Given the description of an element on the screen output the (x, y) to click on. 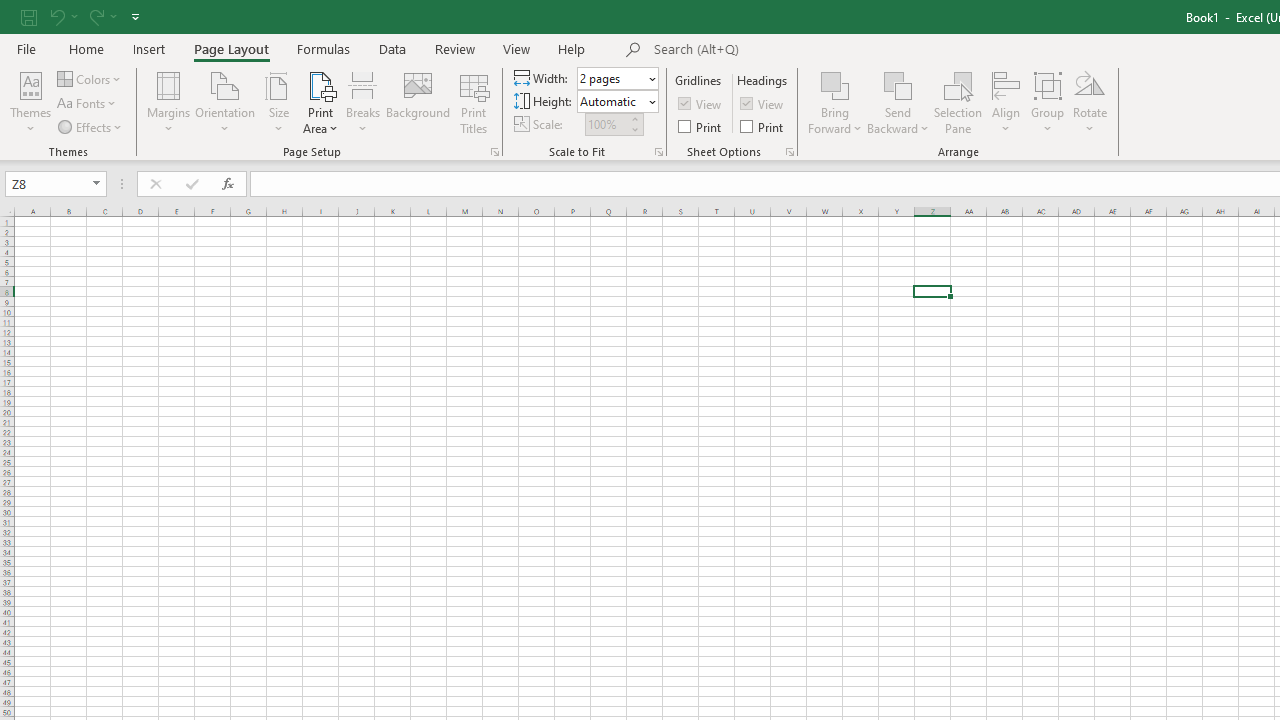
Fonts (87, 103)
Send Backward (898, 84)
Align (1005, 102)
Less (633, 129)
Margins (168, 102)
